Given the description of an element on the screen output the (x, y) to click on. 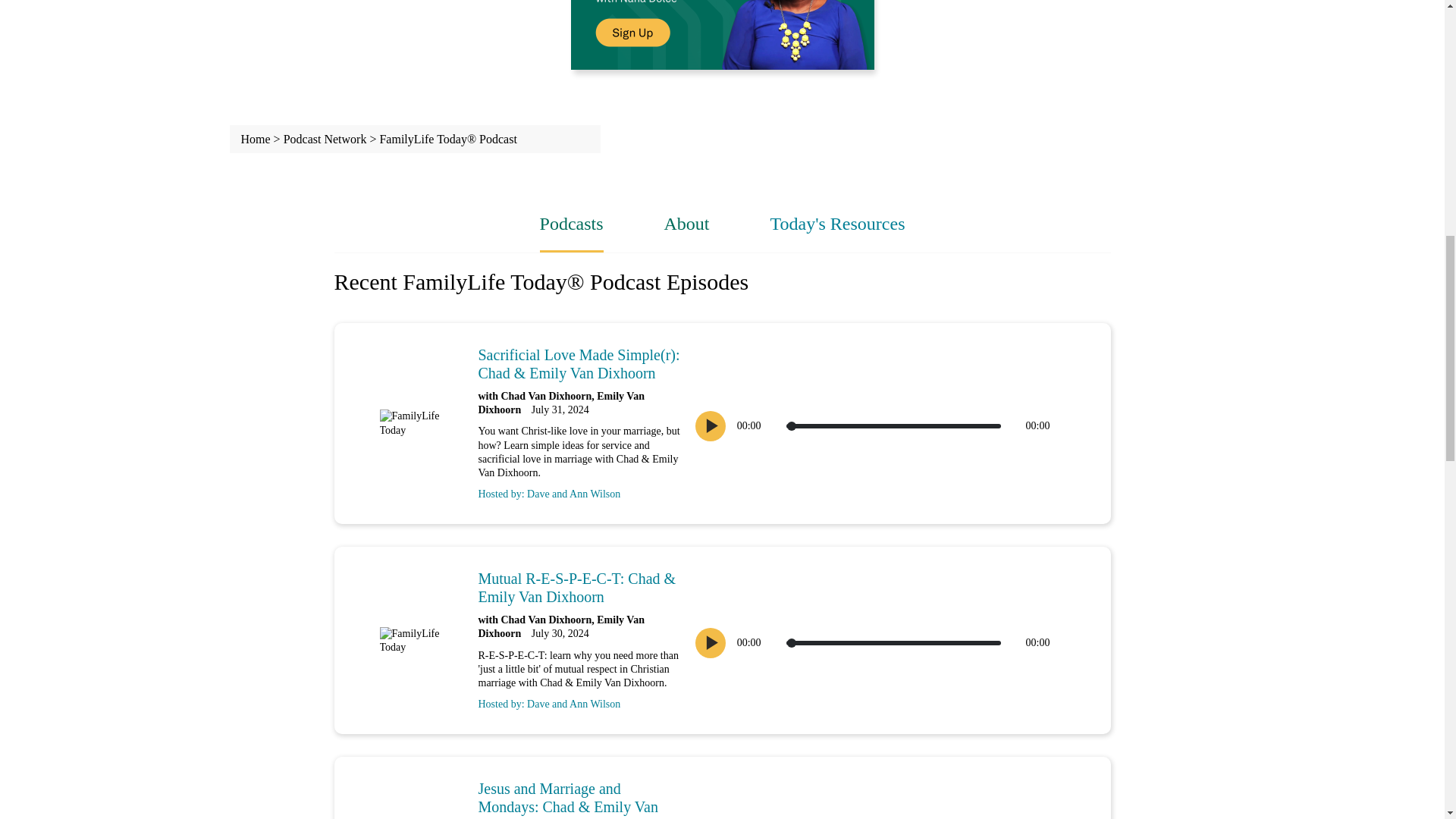
Hosted by: Dave and Ann Wilson (579, 490)
Today's Resources (837, 223)
0 (893, 642)
Podcast Network (324, 138)
Home (255, 138)
Hosted by: Dave and Ann Wilson (579, 700)
0 (893, 426)
